Given the description of an element on the screen output the (x, y) to click on. 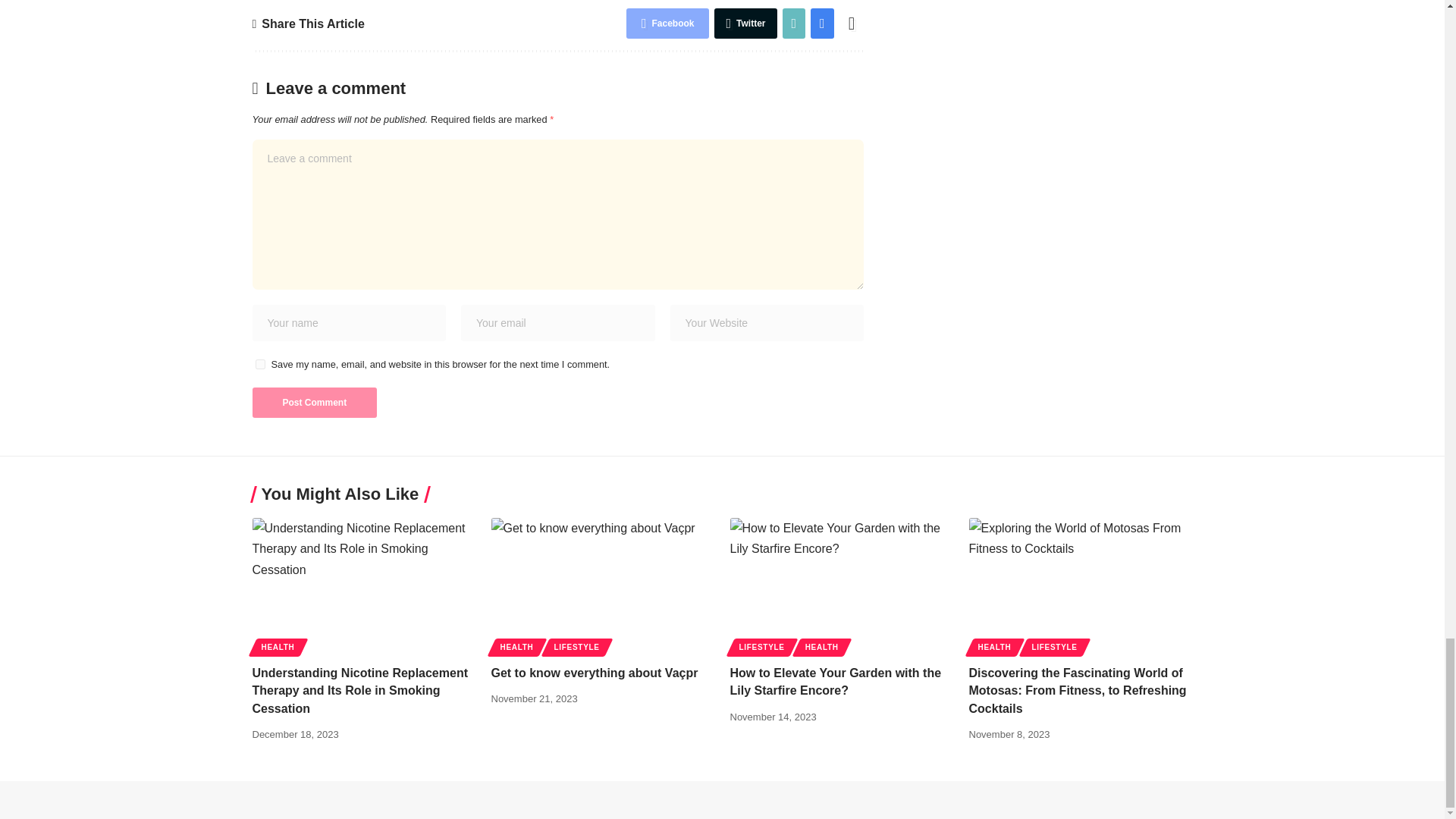
Post Comment (314, 402)
yes (259, 364)
How to Elevate Your Garden with the Lily Starfire Encore? (841, 584)
